Given the description of an element on the screen output the (x, y) to click on. 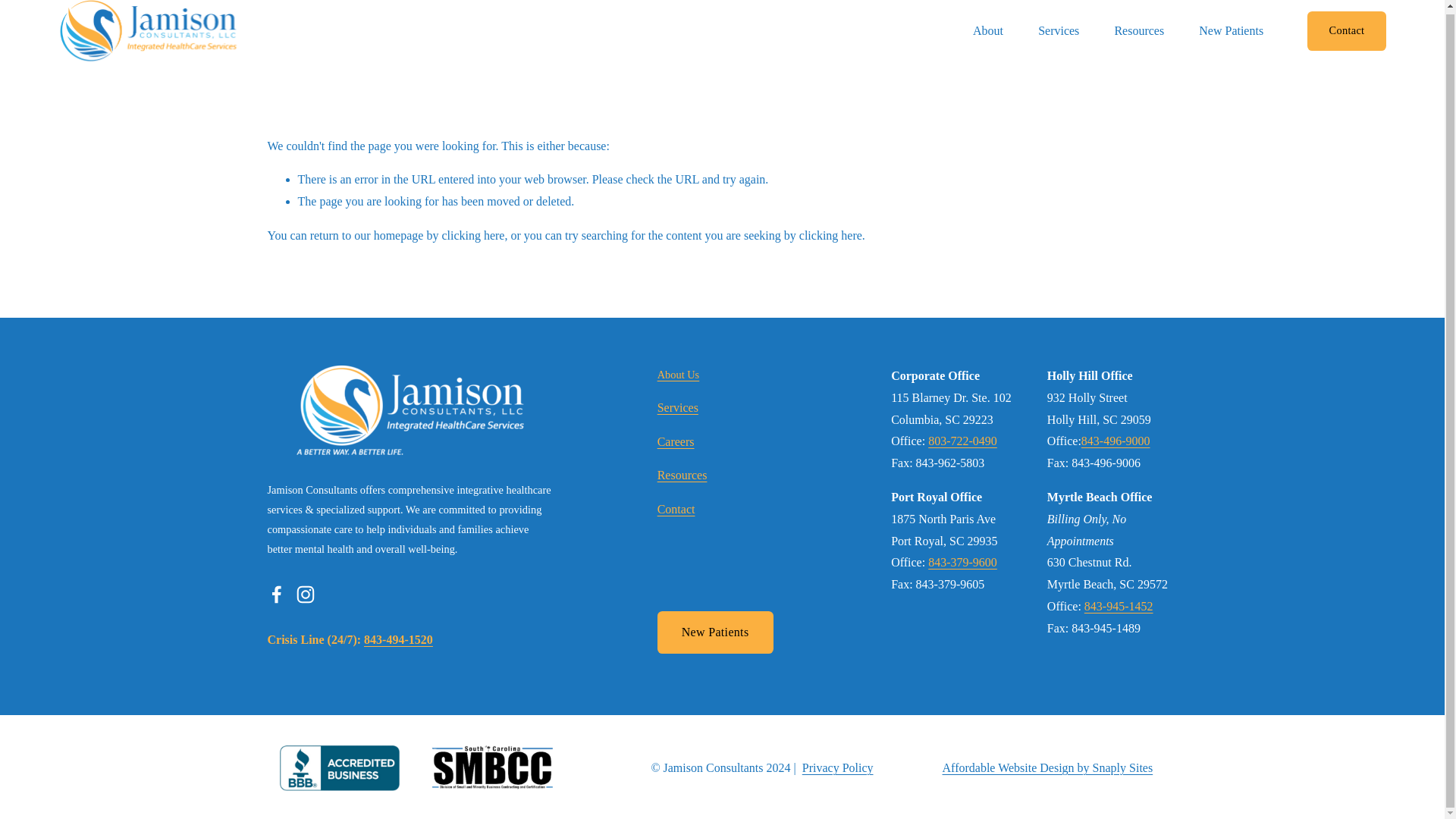
New Patients (1230, 30)
clicking here (472, 235)
Careers (676, 442)
843-379-9600 (962, 563)
843-496-9000 (1115, 441)
Privacy Policy (837, 768)
843-945-1452 (1118, 607)
843-494-1520 (398, 640)
New Patients (715, 631)
Resources (682, 475)
Affordable Website Design by Snaply Sites (1047, 768)
About Us (679, 374)
Contact (676, 509)
Contact (1346, 30)
Services (678, 408)
